Given the description of an element on the screen output the (x, y) to click on. 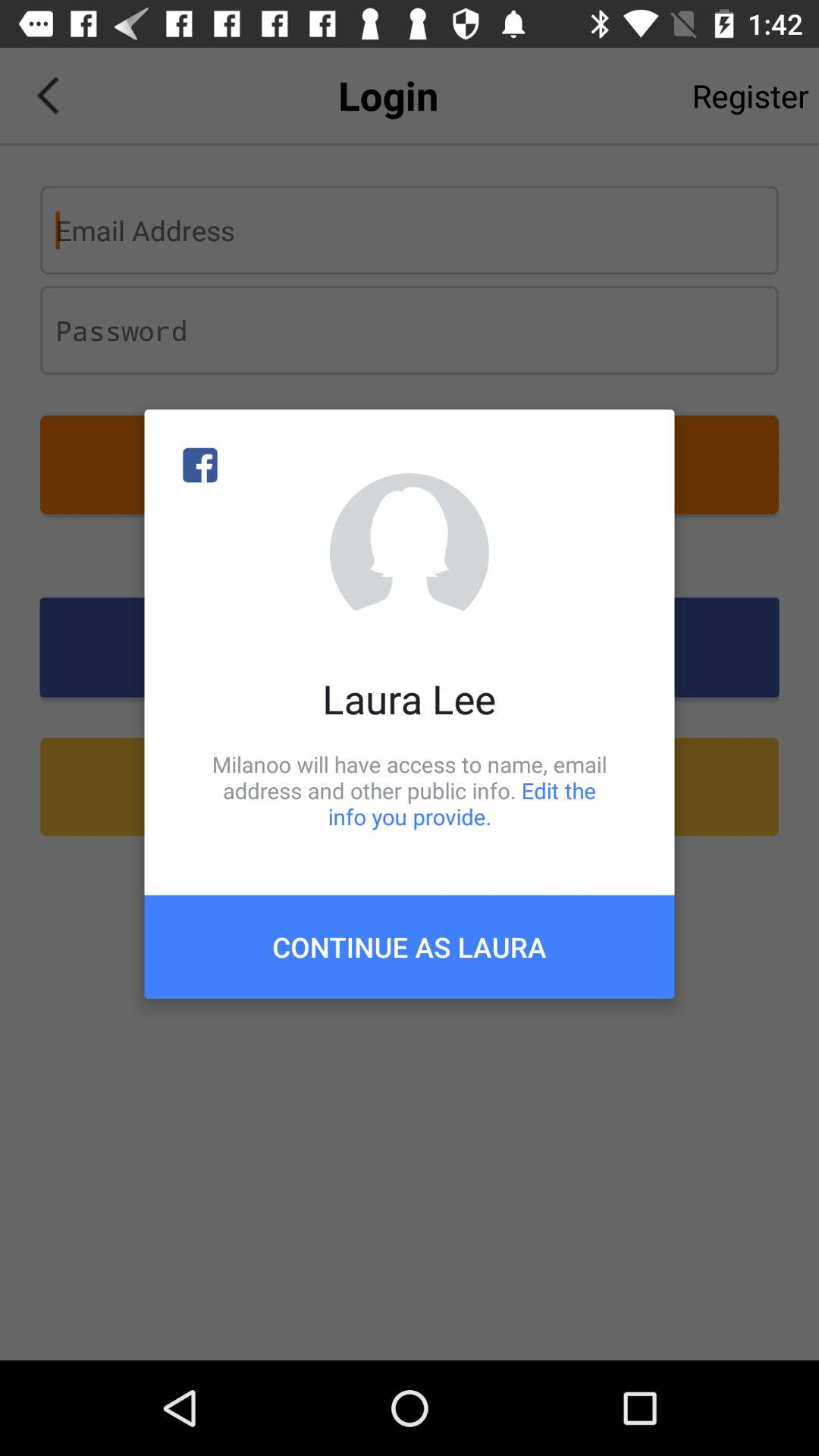
flip to milanoo will have (409, 790)
